Given the description of an element on the screen output the (x, y) to click on. 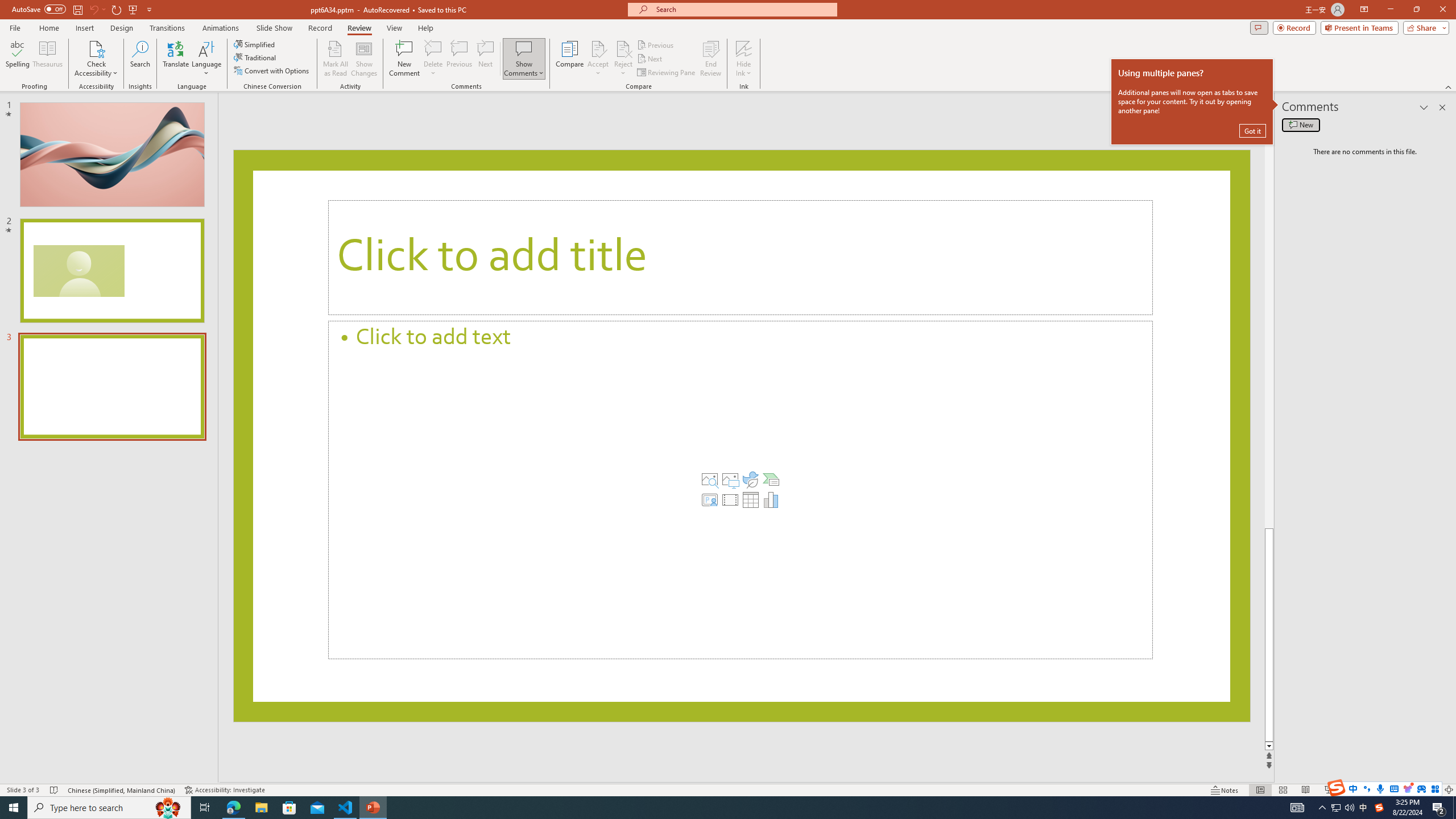
New comment (1300, 124)
End Review (710, 58)
Mark All as Read (335, 58)
Accept (598, 58)
Convert with Options... (272, 69)
Reject Change (622, 48)
